Given the description of an element on the screen output the (x, y) to click on. 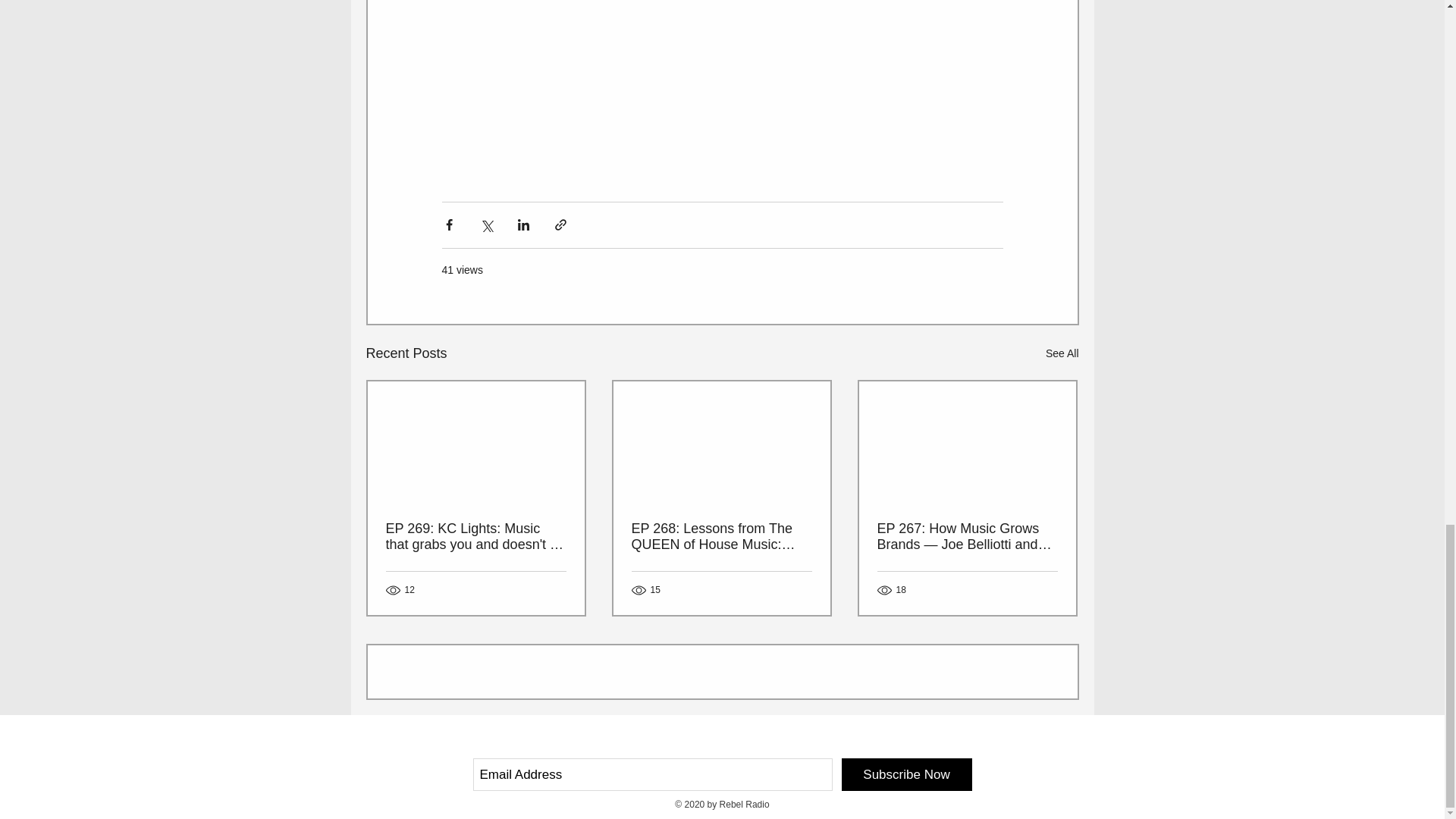
Subscribe Now (906, 774)
EP 269: KC Lights: Music that grabs you and doesn't let go (475, 536)
See All (1061, 352)
